Given the description of an element on the screen output the (x, y) to click on. 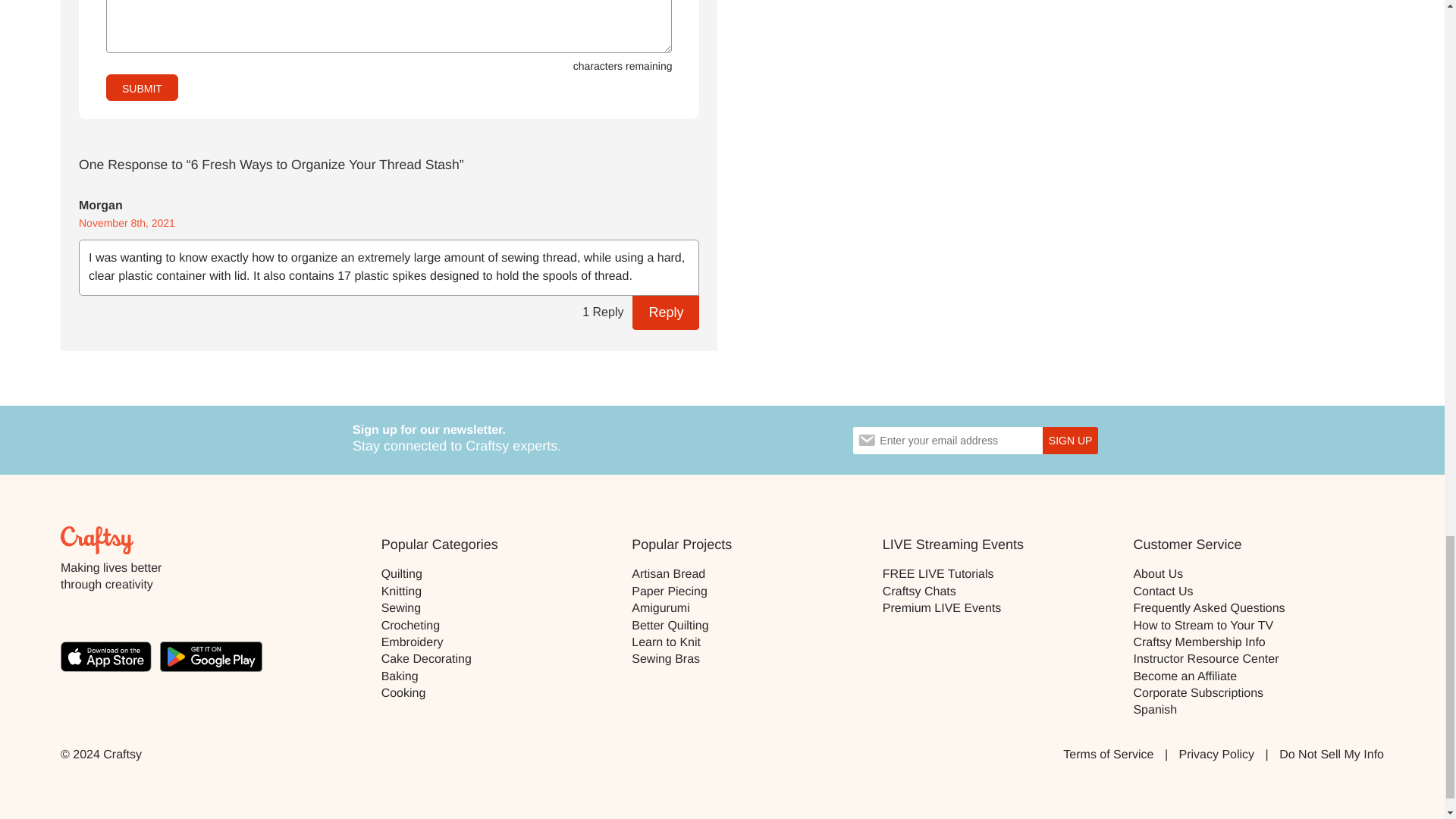
Submit (141, 87)
Sign Up (1069, 440)
Reply (664, 312)
1 Reply (602, 312)
Text Link Badge to Apple (110, 659)
Home (97, 540)
Submit (141, 87)
Sign Up (1069, 440)
